Given the description of an element on the screen output the (x, y) to click on. 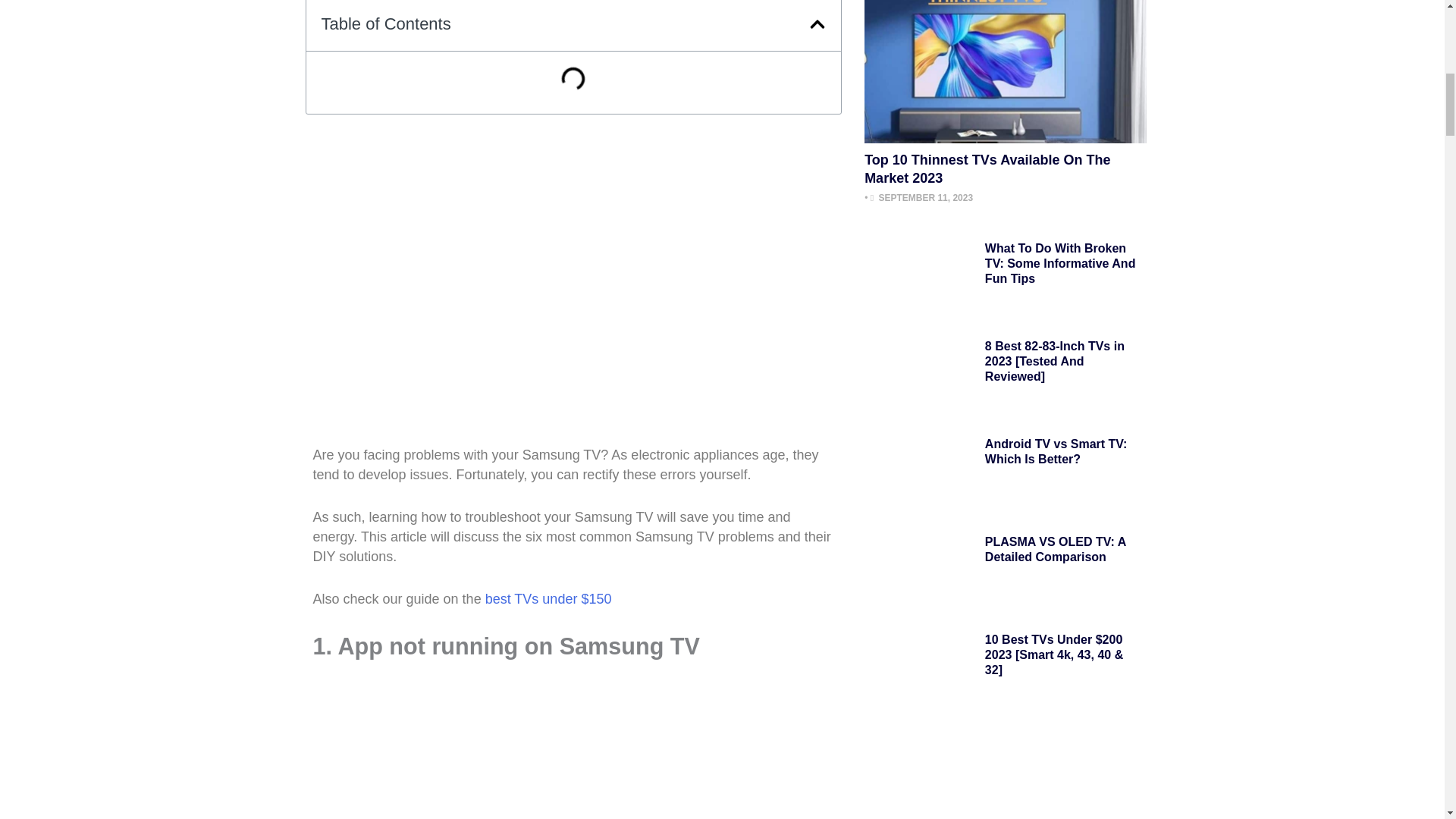
Best 82-83 inches tvs (920, 372)
